Given the description of an element on the screen output the (x, y) to click on. 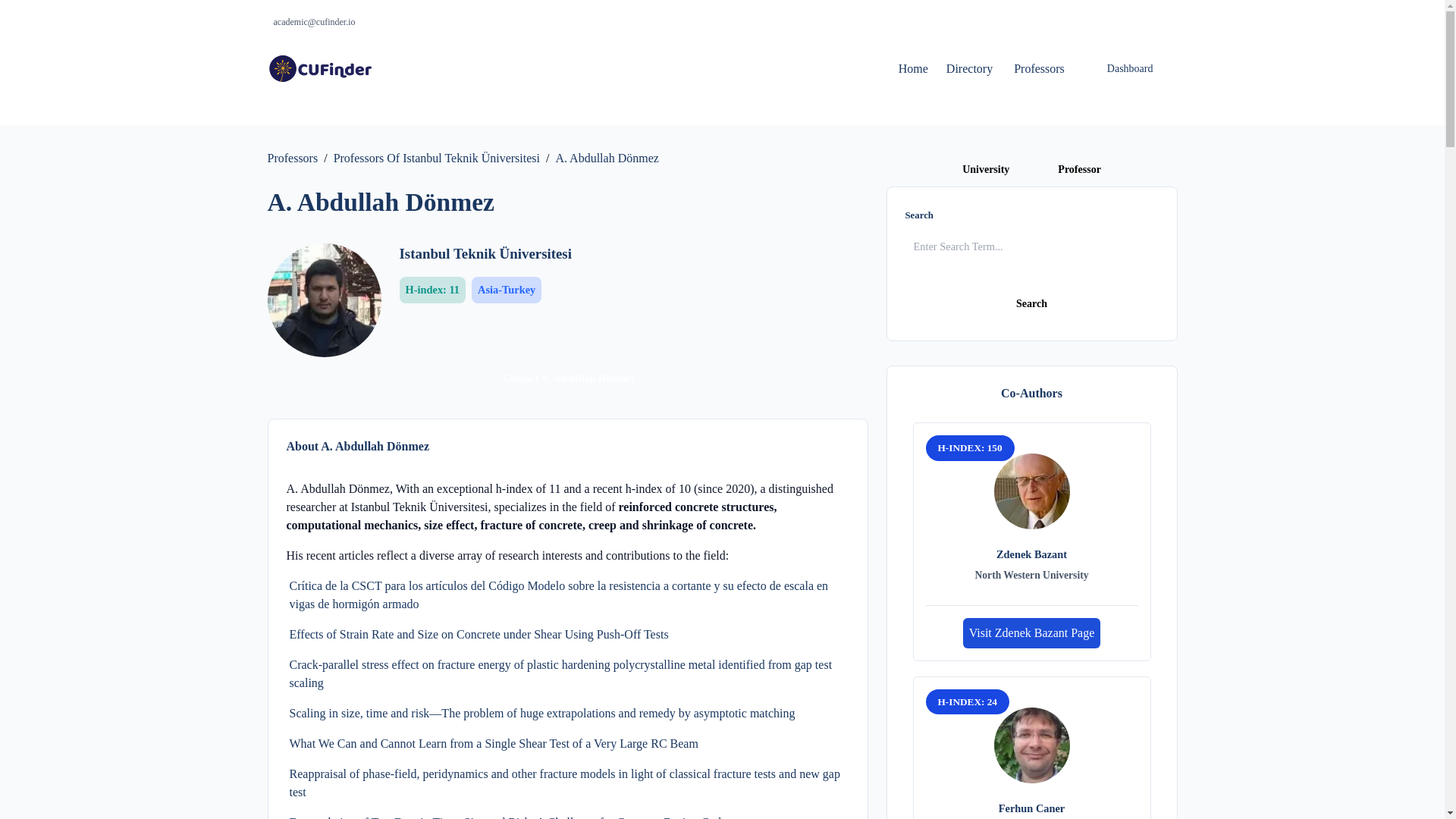
University (985, 169)
Search (1031, 303)
Home (913, 68)
Dashboard (1130, 68)
Professor (1079, 169)
Professors (1038, 68)
Professors (291, 157)
